Given the description of an element on the screen output the (x, y) to click on. 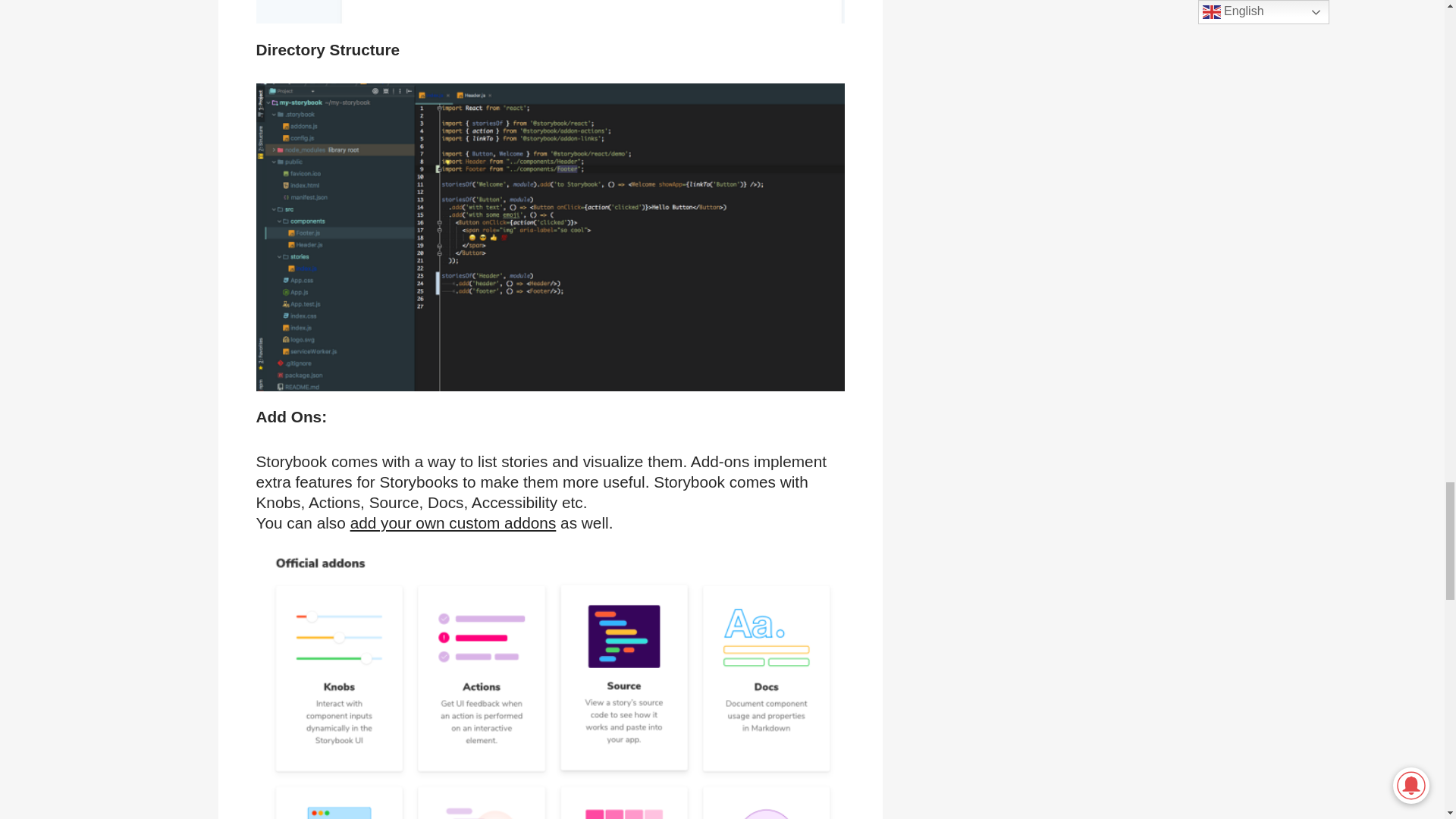
add your own custom addons (453, 522)
